Given the description of an element on the screen output the (x, y) to click on. 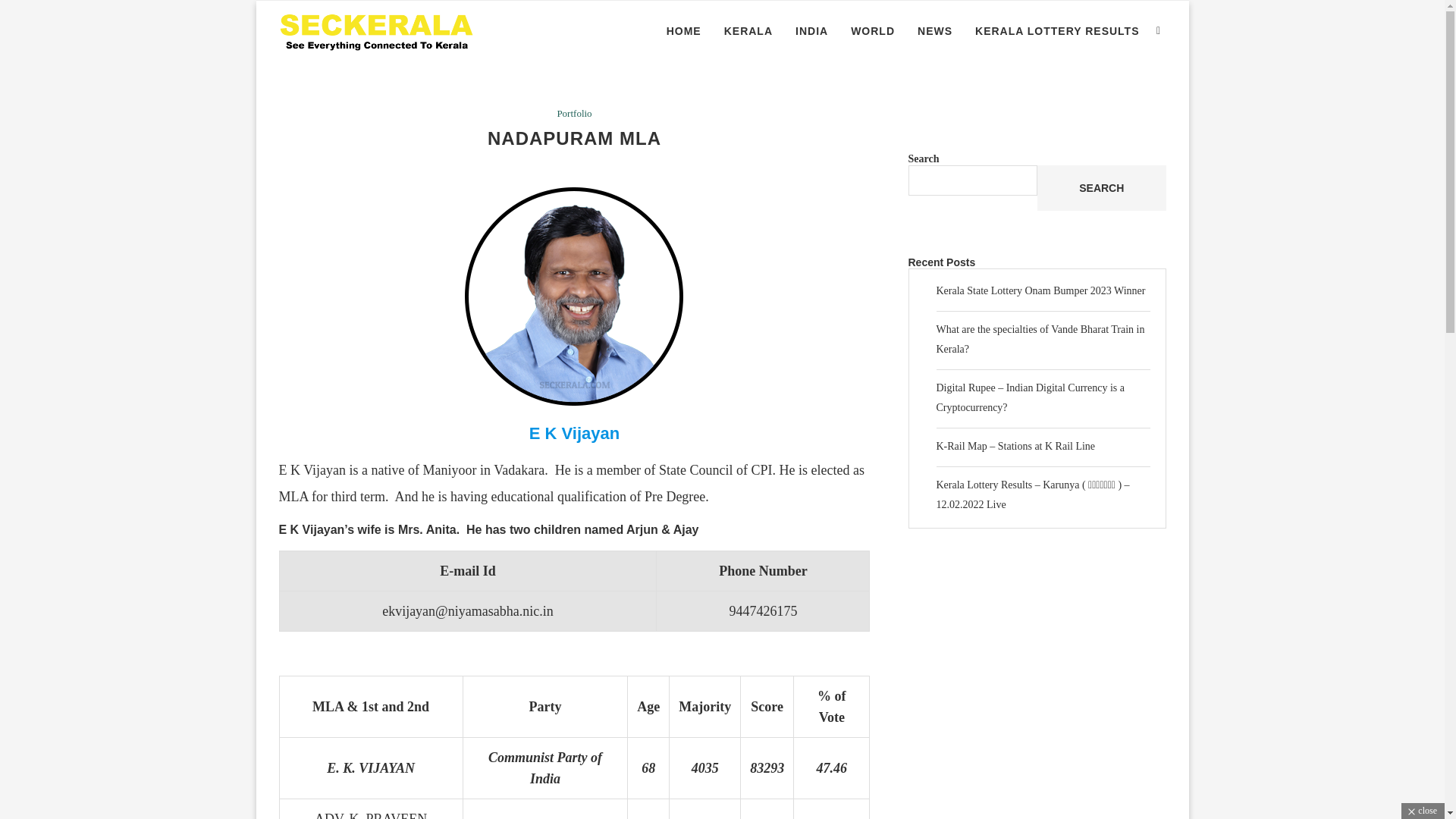
KERALA LOTTERY RESULTS (1056, 30)
SEARCH (1101, 187)
Portfolio (573, 113)
